Given the description of an element on the screen output the (x, y) to click on. 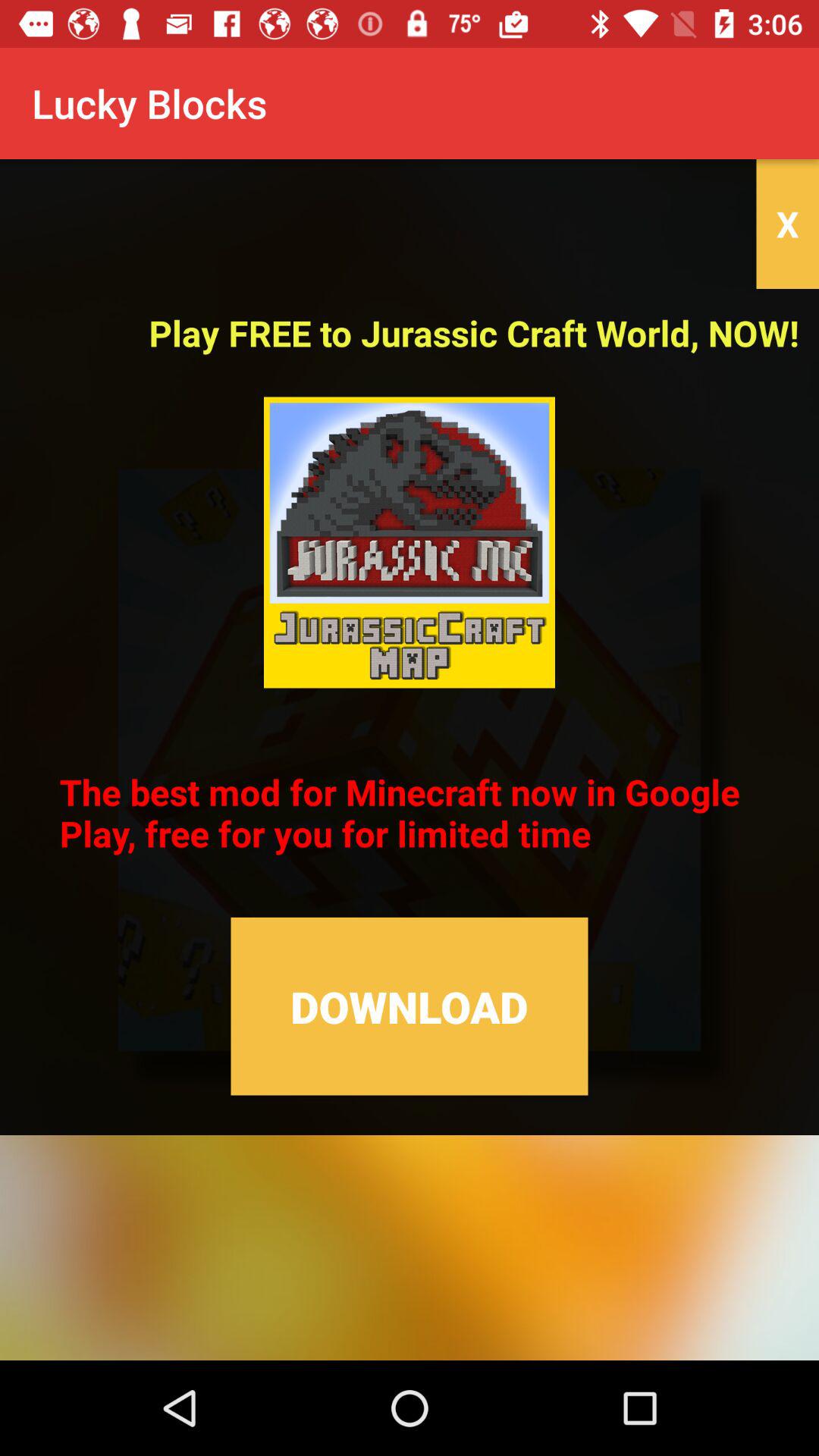
click icon above the play free to item (787, 223)
